Given the description of an element on the screen output the (x, y) to click on. 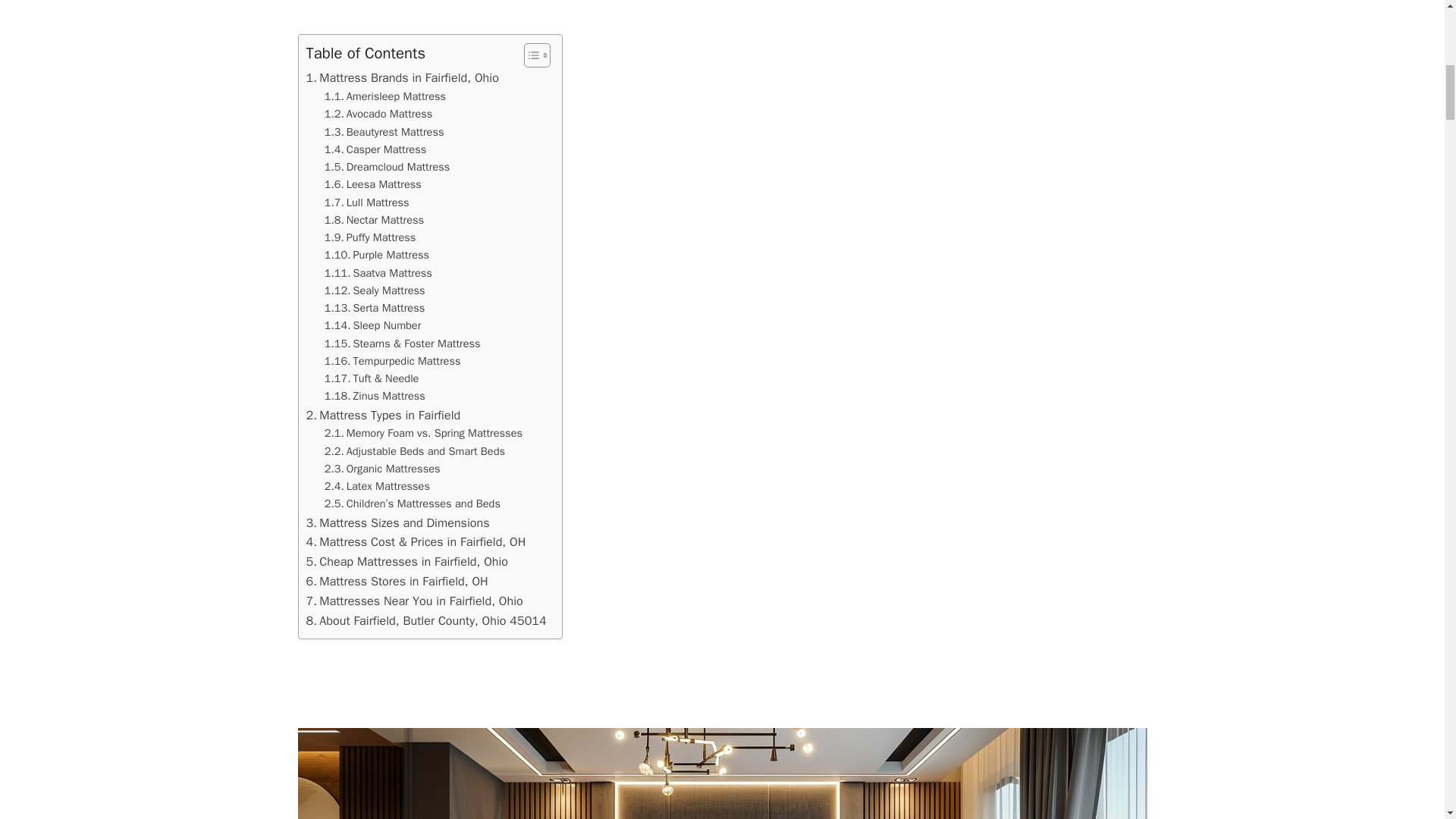
Mattress Brands in Fairfield, Ohio (402, 77)
Beautyrest Mattress (384, 131)
Dreamcloud Mattress (386, 167)
Nectar Mattress (373, 220)
Purple Mattress (376, 254)
Leesa Mattress (373, 184)
Avocado Mattress (378, 113)
Saatva Mattress (378, 272)
Casper Mattress (375, 149)
Puffy Mattress (370, 237)
